Given the description of an element on the screen output the (x, y) to click on. 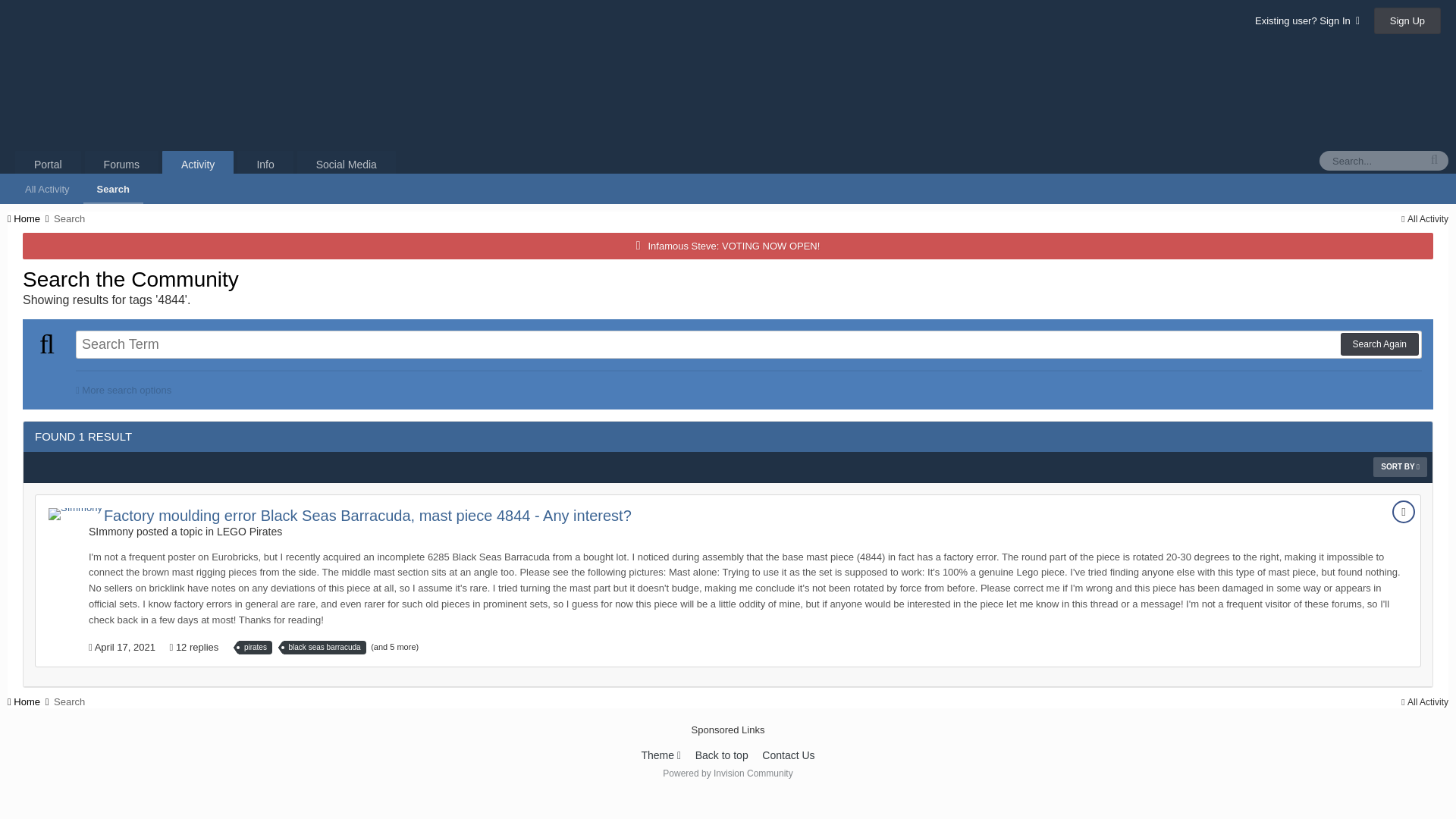
Existing user? Sign In   (1307, 20)
Portal (47, 164)
Sign Up (1407, 20)
Forums (121, 164)
Find other content tagged with 'pirates' (255, 647)
Go to SImmony's profile (74, 513)
Topic (1403, 511)
Invision Community (727, 773)
Home (28, 701)
Home (28, 218)
